Given the description of an element on the screen output the (x, y) to click on. 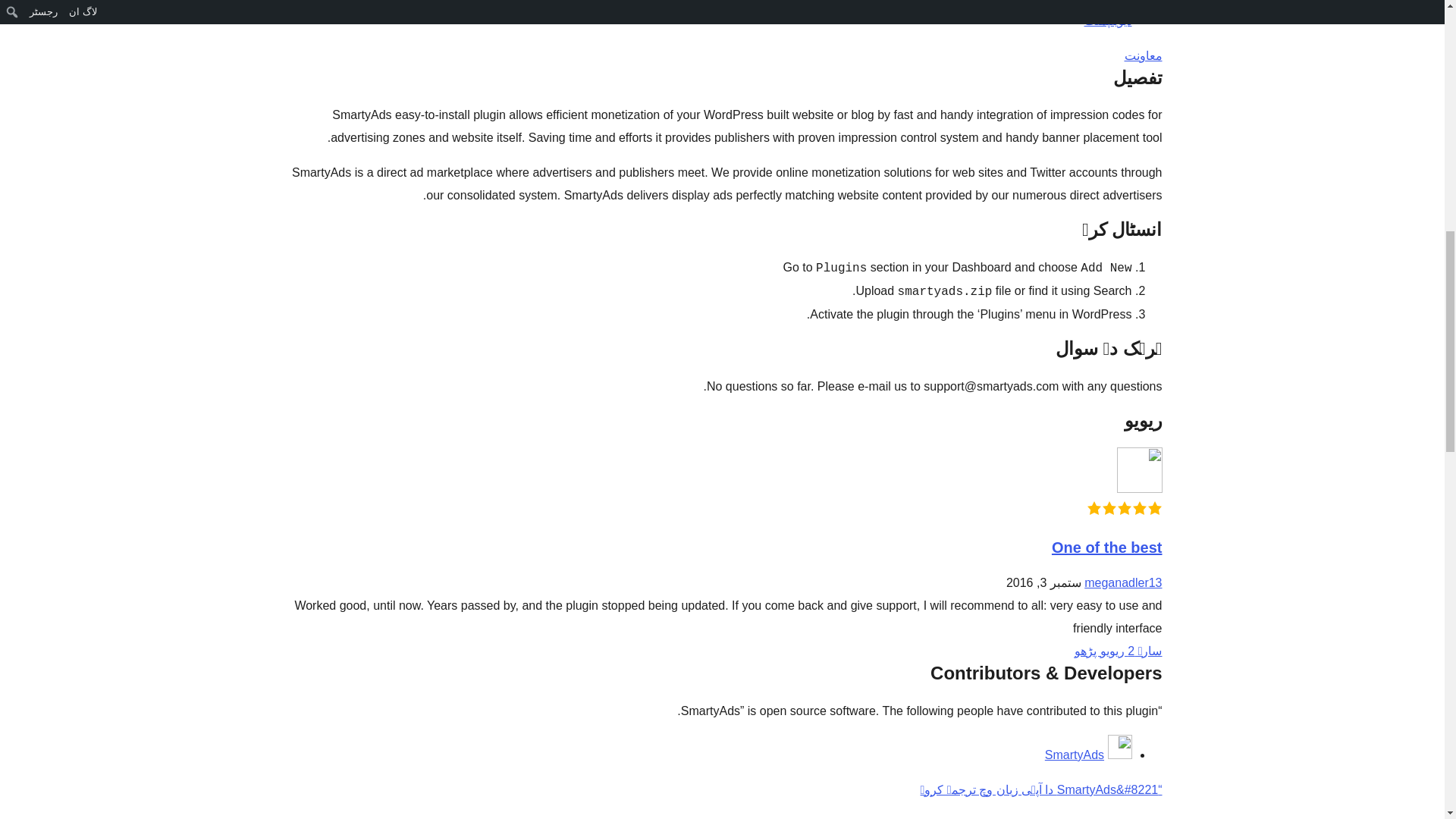
SmartyAds (1074, 754)
One of the best (1106, 547)
meganadler13 (1122, 582)
